Given the description of an element on the screen output the (x, y) to click on. 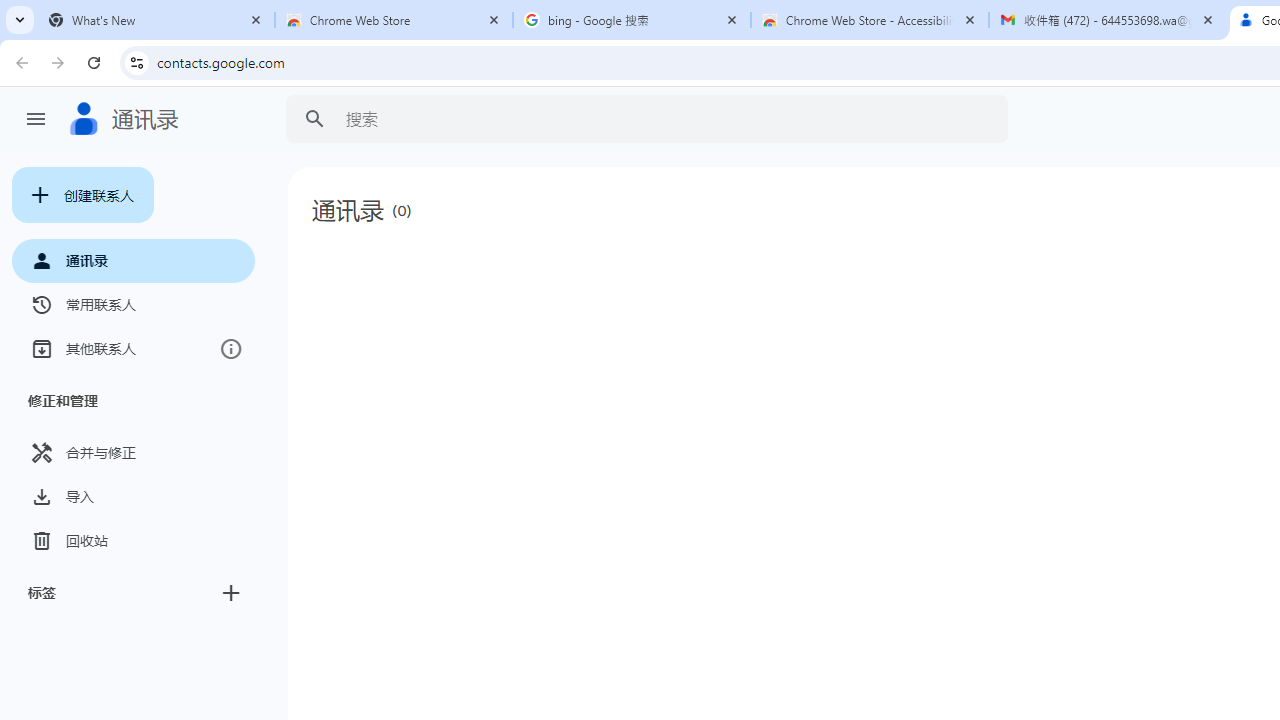
Chrome Web Store - Accessibility (870, 20)
What's New (156, 20)
Chrome Web Store (394, 20)
